Given the description of an element on the screen output the (x, y) to click on. 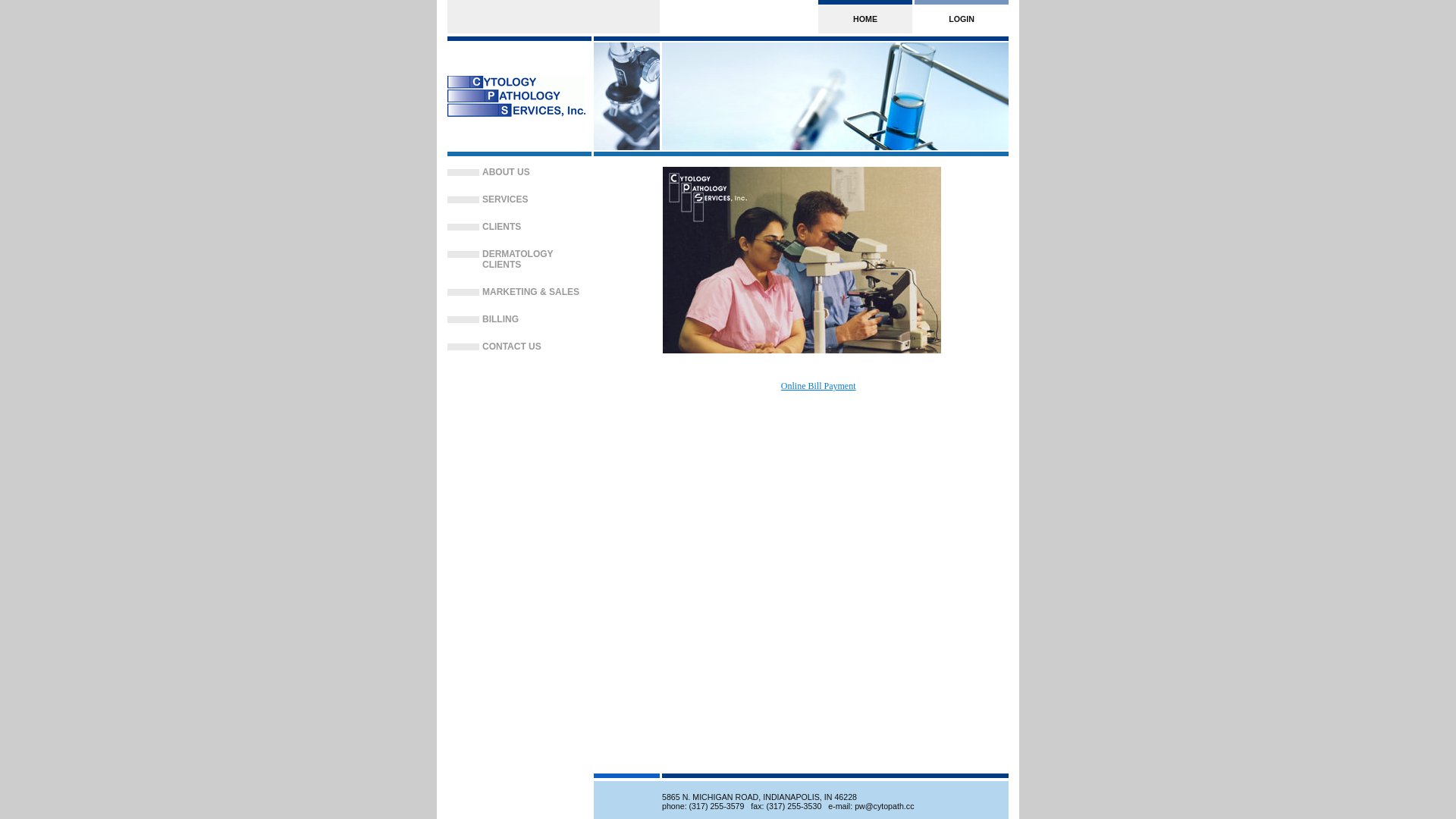
Online Bill Payment Element type: text (818, 385)
DERMATOLOGY CLIENTS Element type: text (536, 259)
SERVICES Element type: text (536, 199)
ABOUT US Element type: text (536, 172)
HOME Element type: text (865, 16)
CLIENTS Element type: text (536, 226)
BILLING Element type: text (536, 319)
LOGIN Element type: text (961, 16)
MARKETING & SALES Element type: text (536, 291)
CONTACT US Element type: text (536, 346)
